Given the description of an element on the screen output the (x, y) to click on. 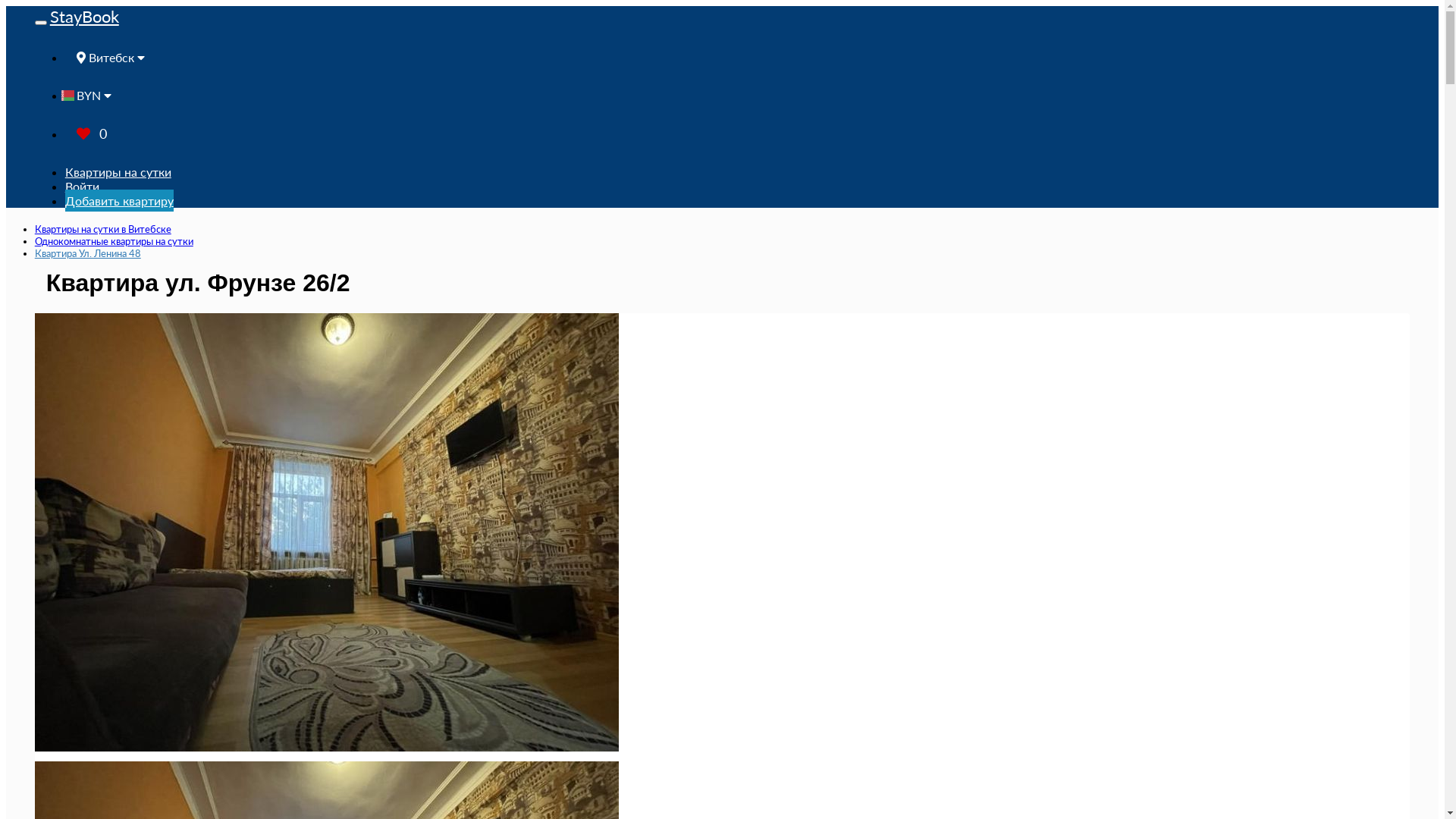
0 Element type: text (91, 133)
StayBook Element type: text (84, 16)
Toggle navigation Element type: text (40, 22)
